Given the description of an element on the screen output the (x, y) to click on. 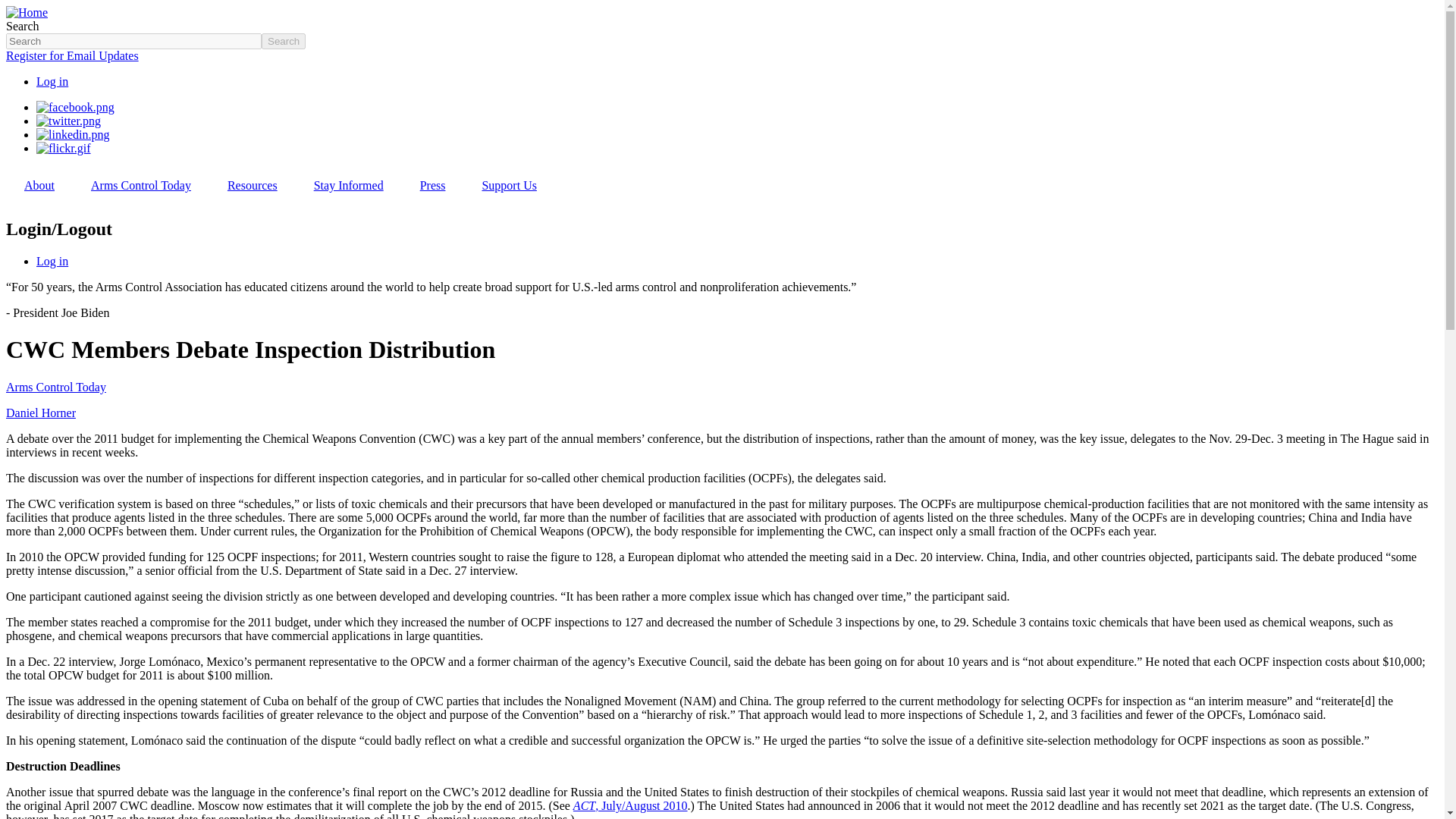
Search (283, 41)
Home (26, 11)
Resources (252, 185)
Register for Email Updates (71, 55)
About (38, 185)
Arms Control Today (140, 185)
Stay Informed (348, 185)
Log in (52, 81)
Enter the terms you wish to search for. (133, 41)
